Given the description of an element on the screen output the (x, y) to click on. 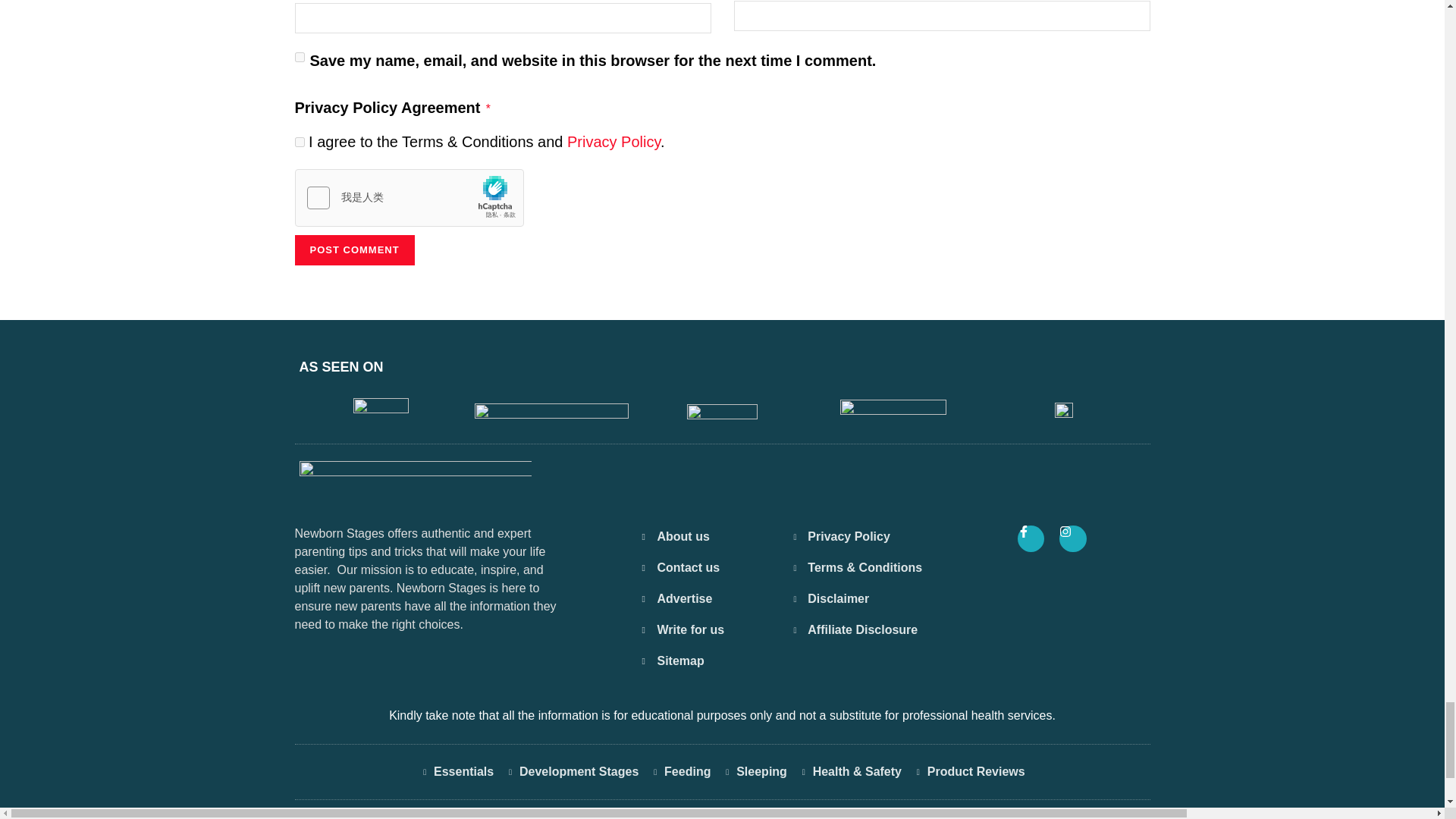
on (299, 142)
Post Comment (353, 250)
yes (299, 57)
